Given the description of an element on the screen output the (x, y) to click on. 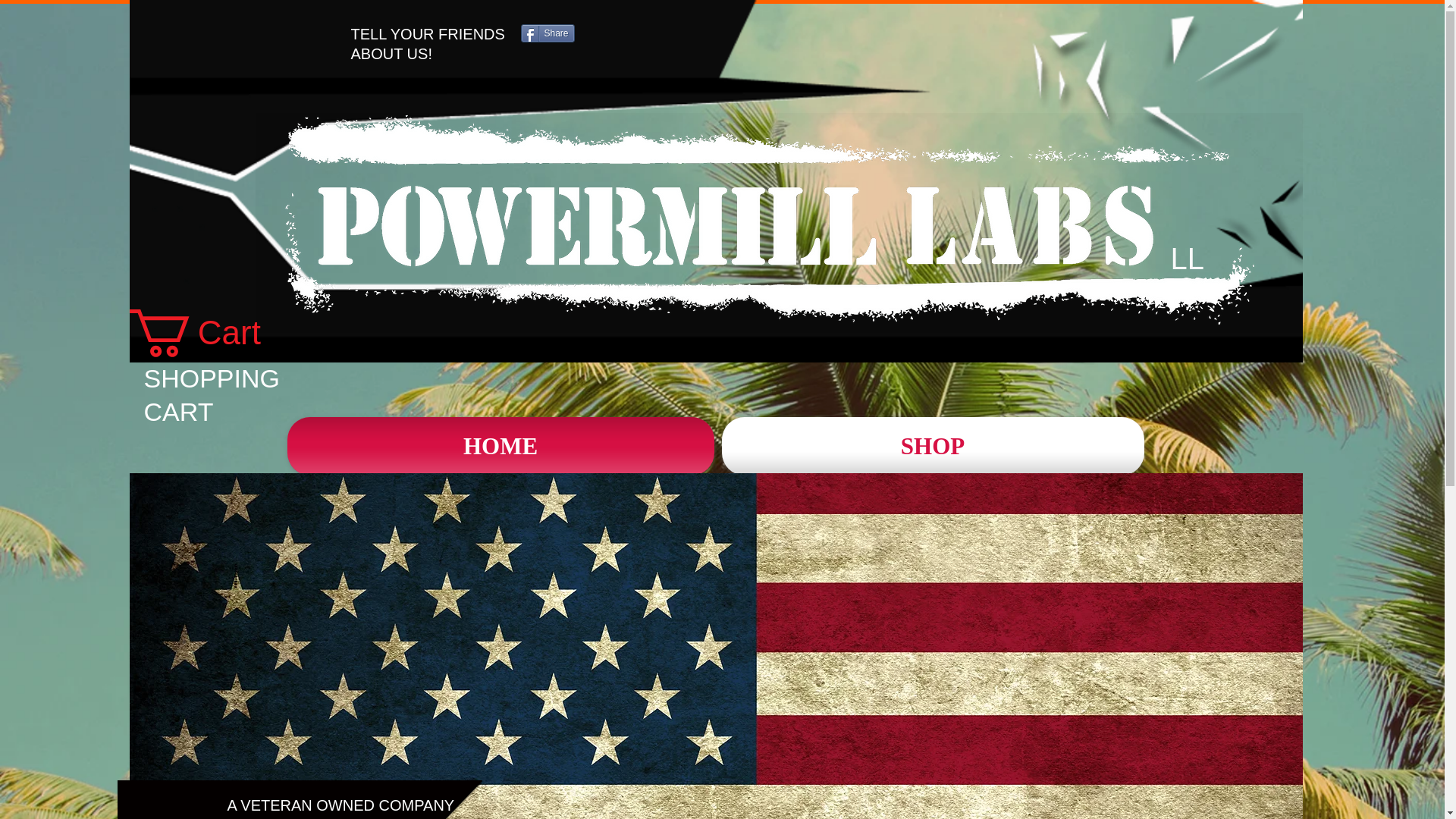
Pinterest (537, 35)
HOME (501, 445)
Cart (218, 333)
Twitter Follow (386, 33)
Share (546, 33)
Share (445, 34)
Share (546, 33)
Pinterest (537, 35)
SHOPPING CART (211, 394)
Share (445, 34)
SHOP (929, 445)
Cart (218, 333)
